Given the description of an element on the screen output the (x, y) to click on. 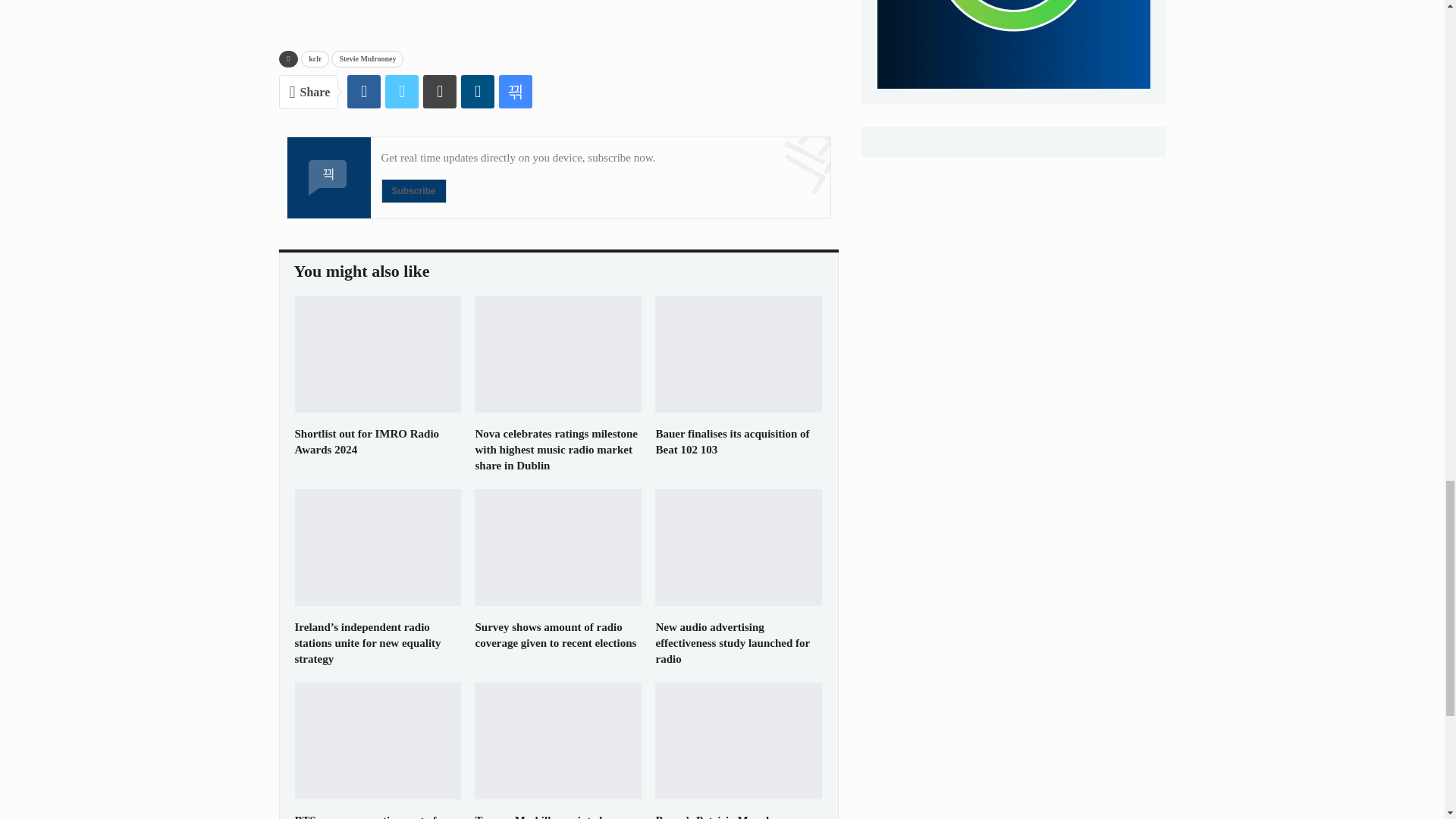
Stevie Mulrooney (367, 58)
Subscribe (412, 191)
Shortlist out for IMRO Radio Awards 2024 (377, 353)
Bauer finalises its acquisition of Beat 102 103 (738, 353)
Shortlist out for IMRO Radio Awards 2024 (366, 441)
kclr (315, 58)
